Given the description of an element on the screen output the (x, y) to click on. 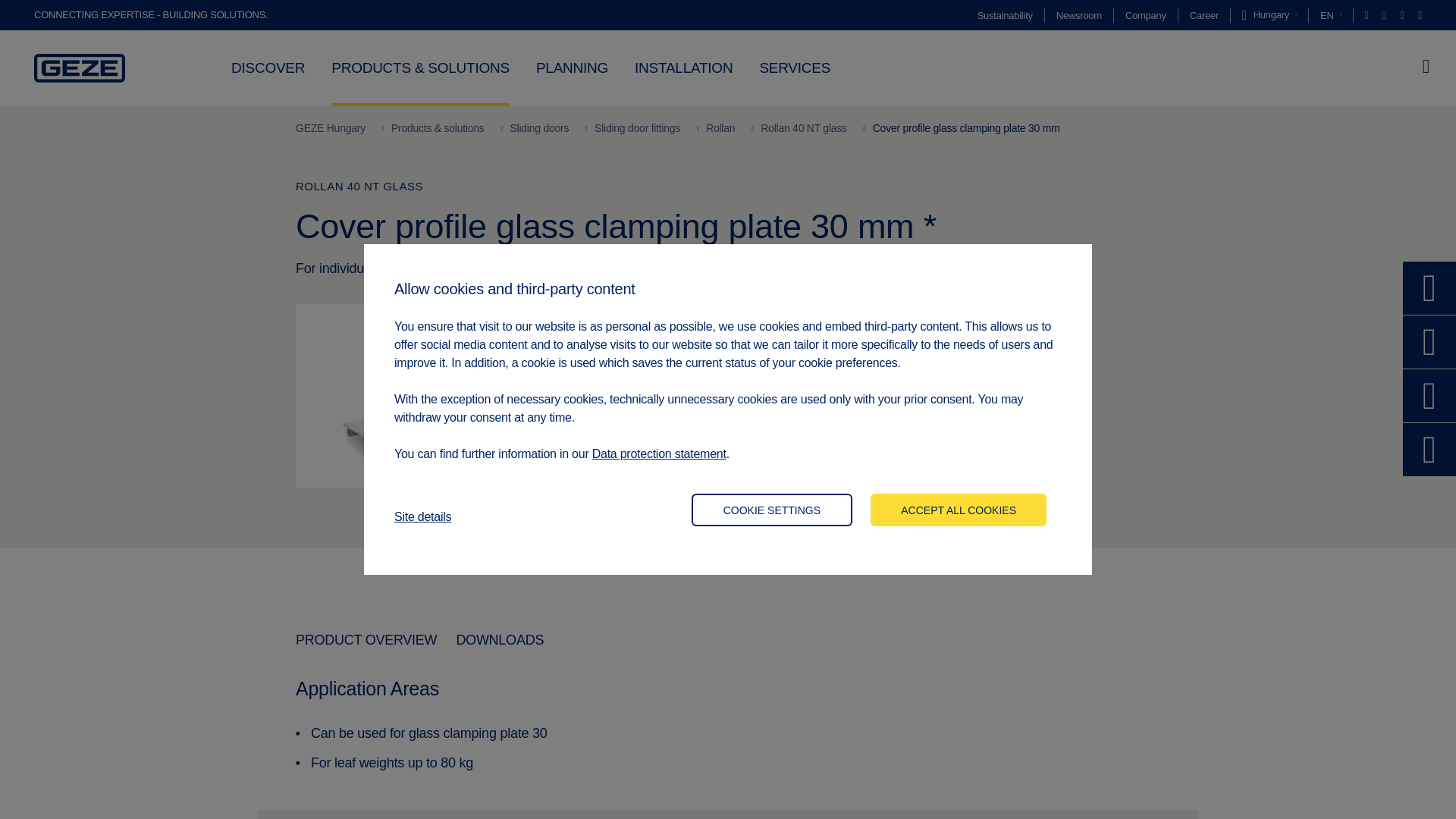
Company (1145, 15)
LinkedIn (1403, 15)
Company (1145, 15)
Newsroom (1079, 15)
Sustainability (1004, 15)
Career (1203, 15)
Facebook (1385, 15)
Hungary (1269, 15)
Sustainability (1004, 15)
Youtube (1420, 15)
Career (1203, 15)
Newsroom (1079, 15)
Twitter (1368, 15)
